Given the description of an element on the screen output the (x, y) to click on. 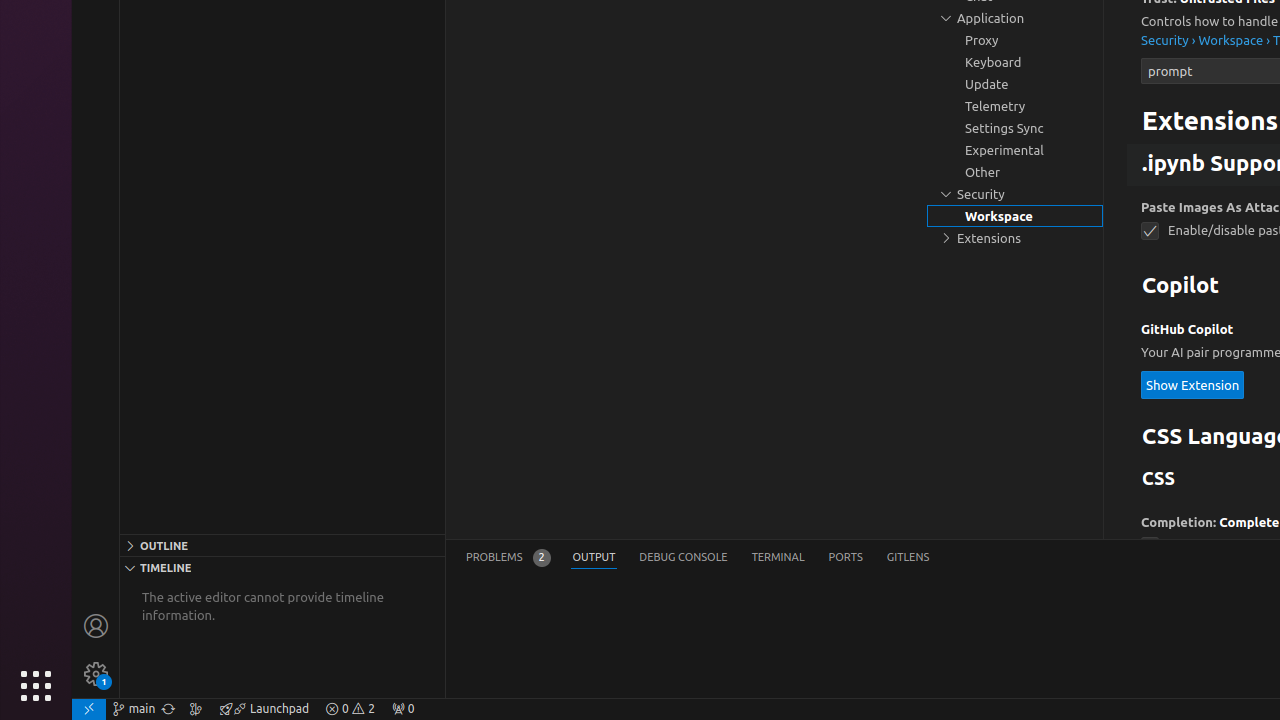
Show the GitLens Commit Graph Element type: push-button (196, 709)
rocket gitlens-unplug Launchpad, GitLens Launchpad ᴘʀᴇᴠɪᴇᴡ    &mdash;    [$(question)](command:gitlens.launchpad.indicator.action?%22info%22 "What is this?") [$(gear)](command:workbench.action.openSettings?%22gitlens.launchpad%22 "Settings")  |  [$(circle-slash) Hide](command:gitlens.launchpad.indicator.action?%22hide%22 "Hide") --- [Launchpad](command:gitlens.launchpad.indicator.action?%info%22 "Learn about Launchpad") organizes your pull requests into actionable groups to help you focus and keep your team unblocked. It's always accessible using the `GitLens: Open Launchpad` command from the Command Palette. --- [Connect an integration](command:gitlens.showLaunchpad?%7B%22source%22%3A%22launchpad-indicator%22%7D "Connect an integration") to get started. Element type: push-button (264, 709)
Experimental, group Element type: tree-item (1015, 150)
css.completion.completePropertyWithSemicolon Element type: check-box (1150, 546)
Workspace, group Element type: tree-item (1015, 216)
